Given the description of an element on the screen output the (x, y) to click on. 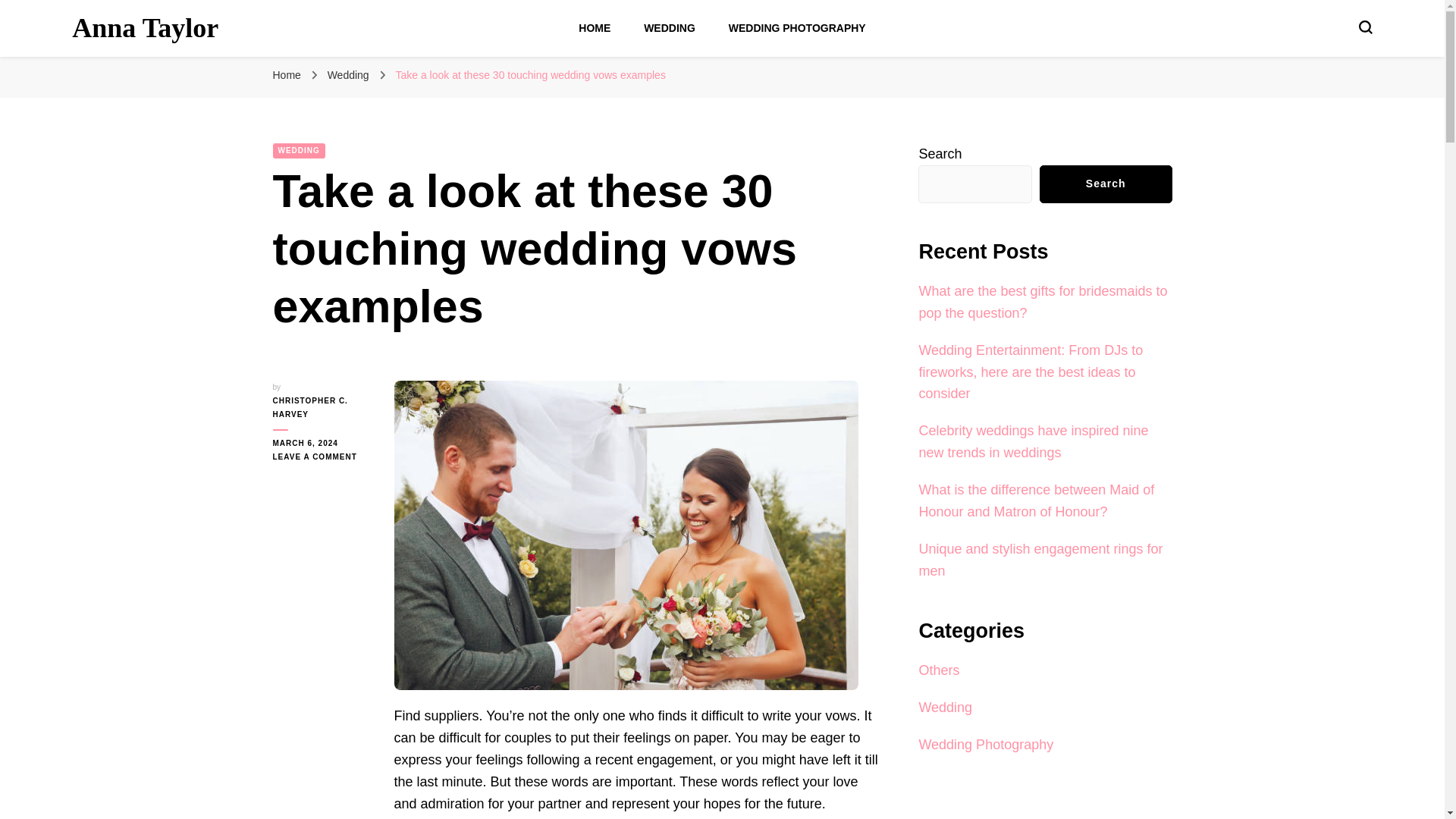
Home (287, 74)
WEDDING PHOTOGRAPHY (797, 28)
HOME (594, 28)
Wedding Photography (985, 744)
CHRISTOPHER C. HARVEY (322, 407)
What are the best gifts for bridesmaids to pop the question? (1042, 302)
Unique and stylish engagement rings for men (1039, 559)
Take a look at these 30 touching wedding vows examples (529, 74)
MARCH 6, 2024 (322, 443)
Celebrity weddings have inspired nine new trends in weddings (1033, 441)
Wedding (945, 707)
WEDDING (298, 150)
